Given the description of an element on the screen output the (x, y) to click on. 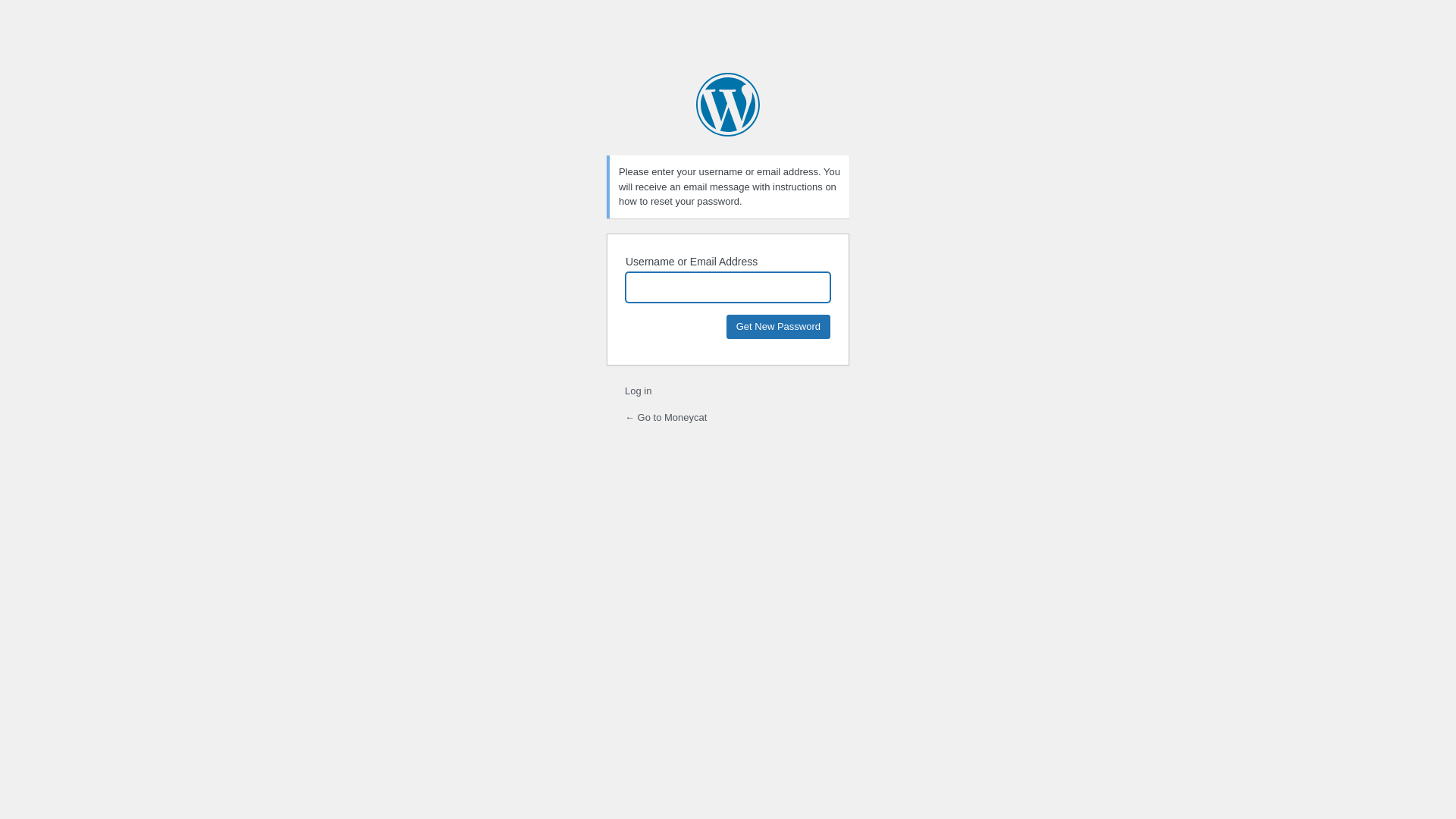
Log in Element type: text (637, 390)
Powered by WordPress Element type: text (727, 104)
Get New Password Element type: text (778, 325)
